Given the description of an element on the screen output the (x, y) to click on. 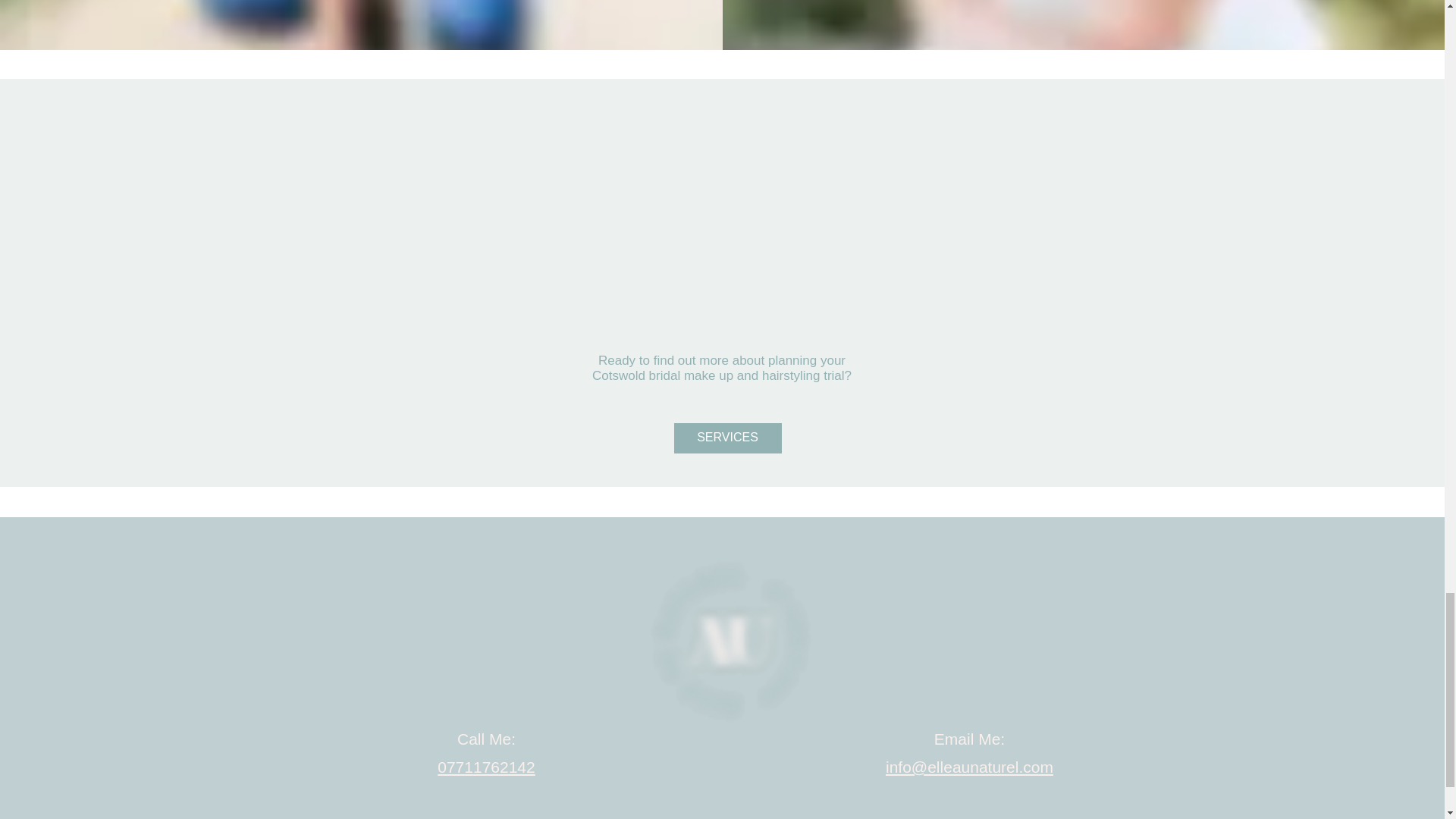
SERVICES (726, 438)
07711762142 (486, 766)
